Given the description of an element on the screen output the (x, y) to click on. 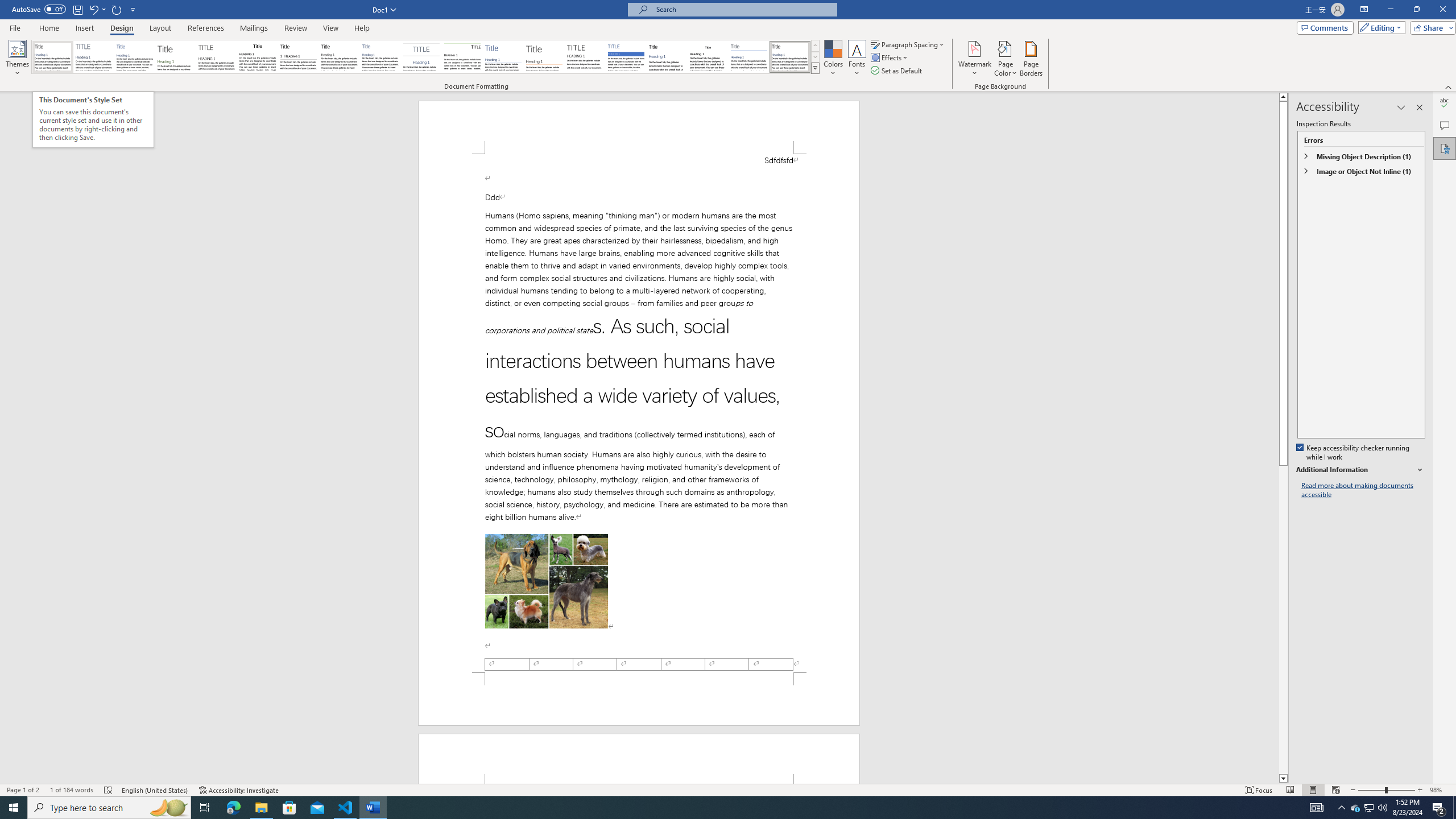
Undo Apply Quick Style Set (92, 9)
Lines (Distinctive) (462, 56)
Paragraph Spacing (908, 44)
Lines (Stylish) (544, 56)
Fonts (856, 58)
Page down (1283, 619)
Morphological variation in six dogs (546, 580)
Line down (1283, 778)
